Given the description of an element on the screen output the (x, y) to click on. 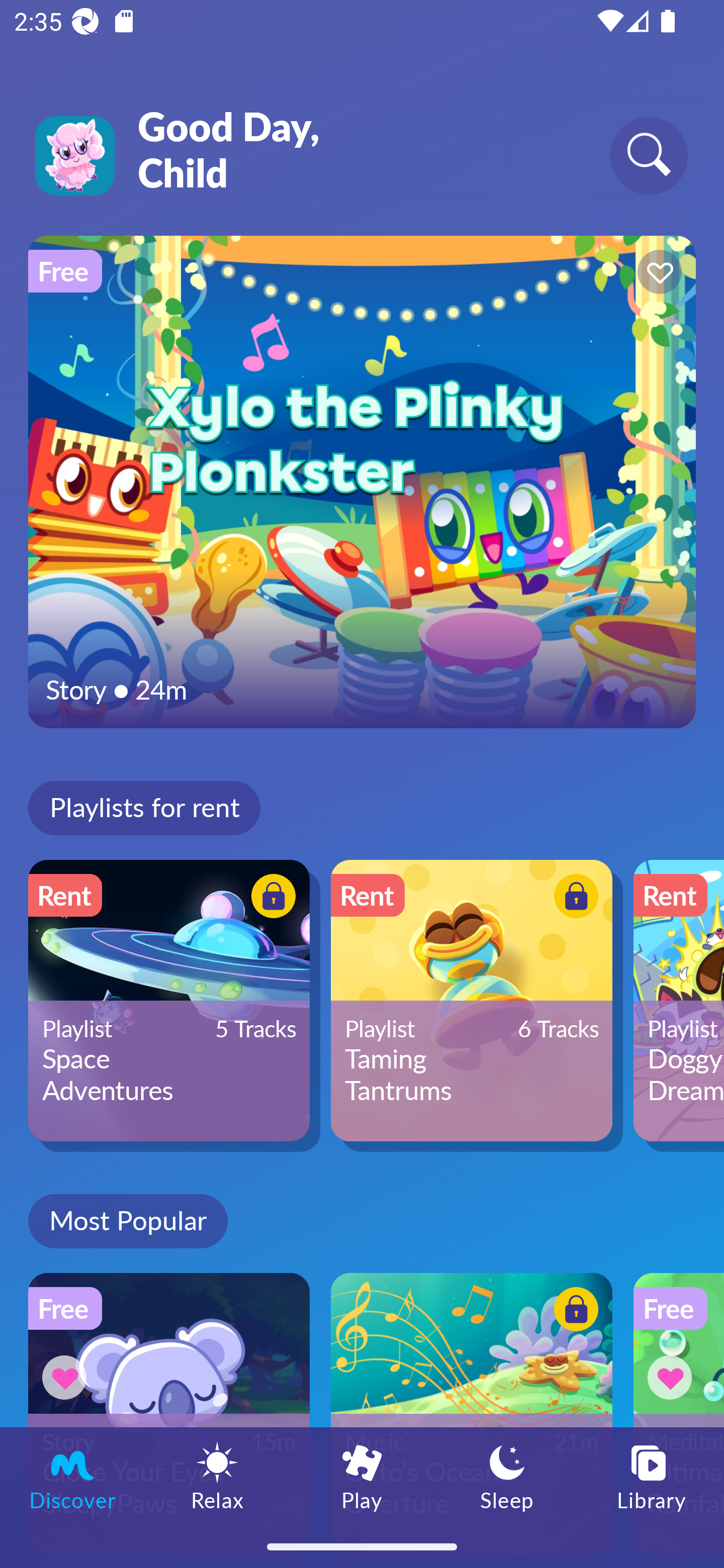
Search (648, 154)
Featured Content Free Button Story ● 24m (361, 481)
Button (656, 274)
Button (269, 898)
Button (573, 898)
Button (573, 1312)
Button (67, 1377)
Button (672, 1377)
Relax (216, 1475)
Play (361, 1475)
Sleep (506, 1475)
Library (651, 1475)
